Given the description of an element on the screen output the (x, y) to click on. 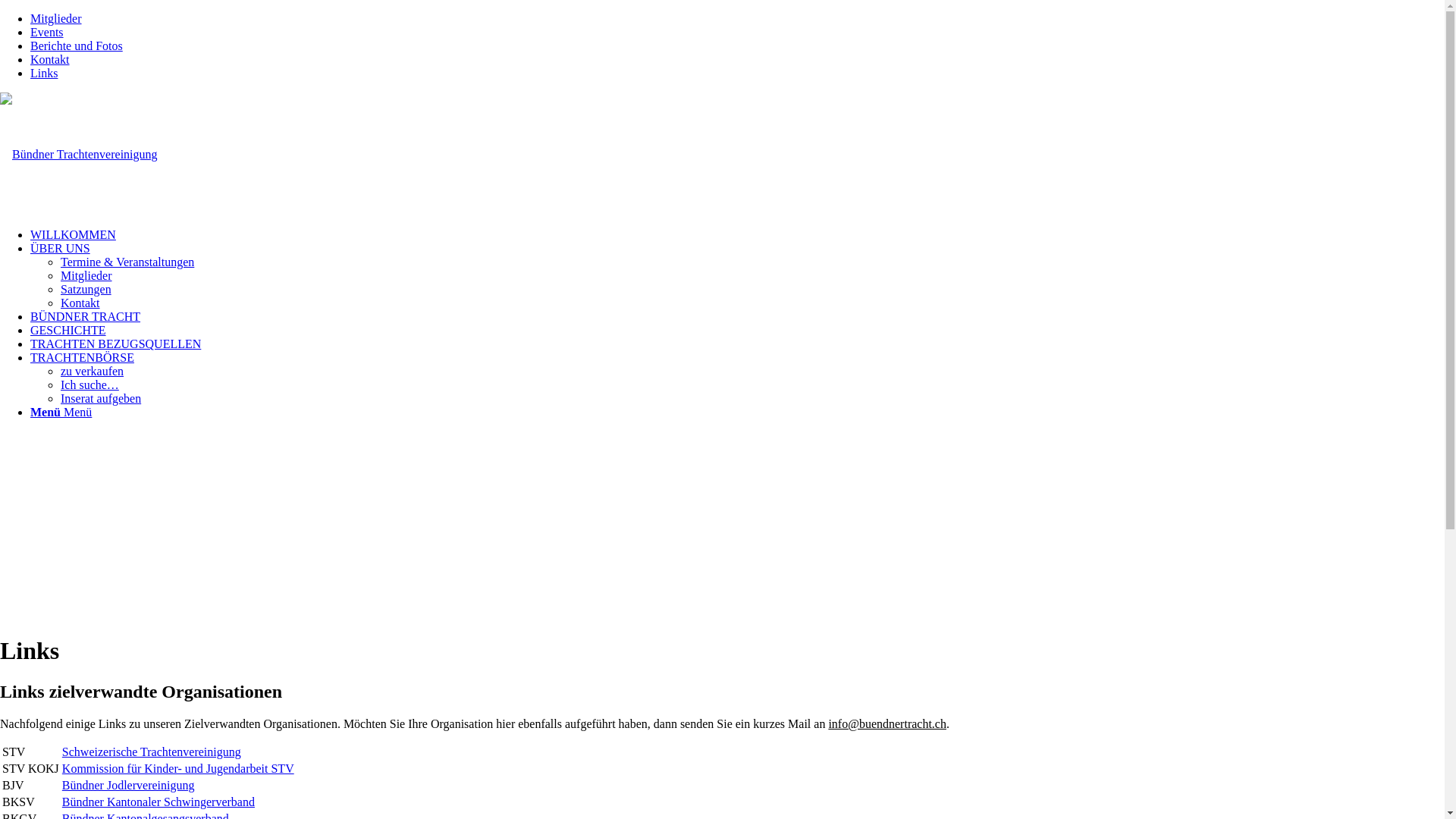
WILLKOMMEN Element type: text (73, 234)
Termine & Veranstaltungen Element type: text (127, 261)
Mitglieder Element type: text (55, 18)
Mitglieder Element type: text (86, 275)
TRACHTEN BEZUGSQUELLEN Element type: text (115, 343)
zu verkaufen Element type: text (91, 370)
Satzungen Element type: text (85, 288)
Kontakt Element type: text (49, 59)
Inserat aufgeben Element type: text (100, 398)
GESCHICHTE Element type: text (68, 329)
info@buendnertracht.ch Element type: text (887, 723)
Berichte und Fotos Element type: text (76, 45)
Logo-Trachenvereinigung-Transparent-410 Element type: hover (78, 153)
Schweizerische Trachtenvereinigung Element type: text (151, 751)
Kontakt Element type: text (80, 302)
Links Element type: text (43, 72)
Logo-Trachenvereinigung-Transparent-410 Element type: hover (78, 154)
Events Element type: text (46, 31)
